Given the description of an element on the screen output the (x, y) to click on. 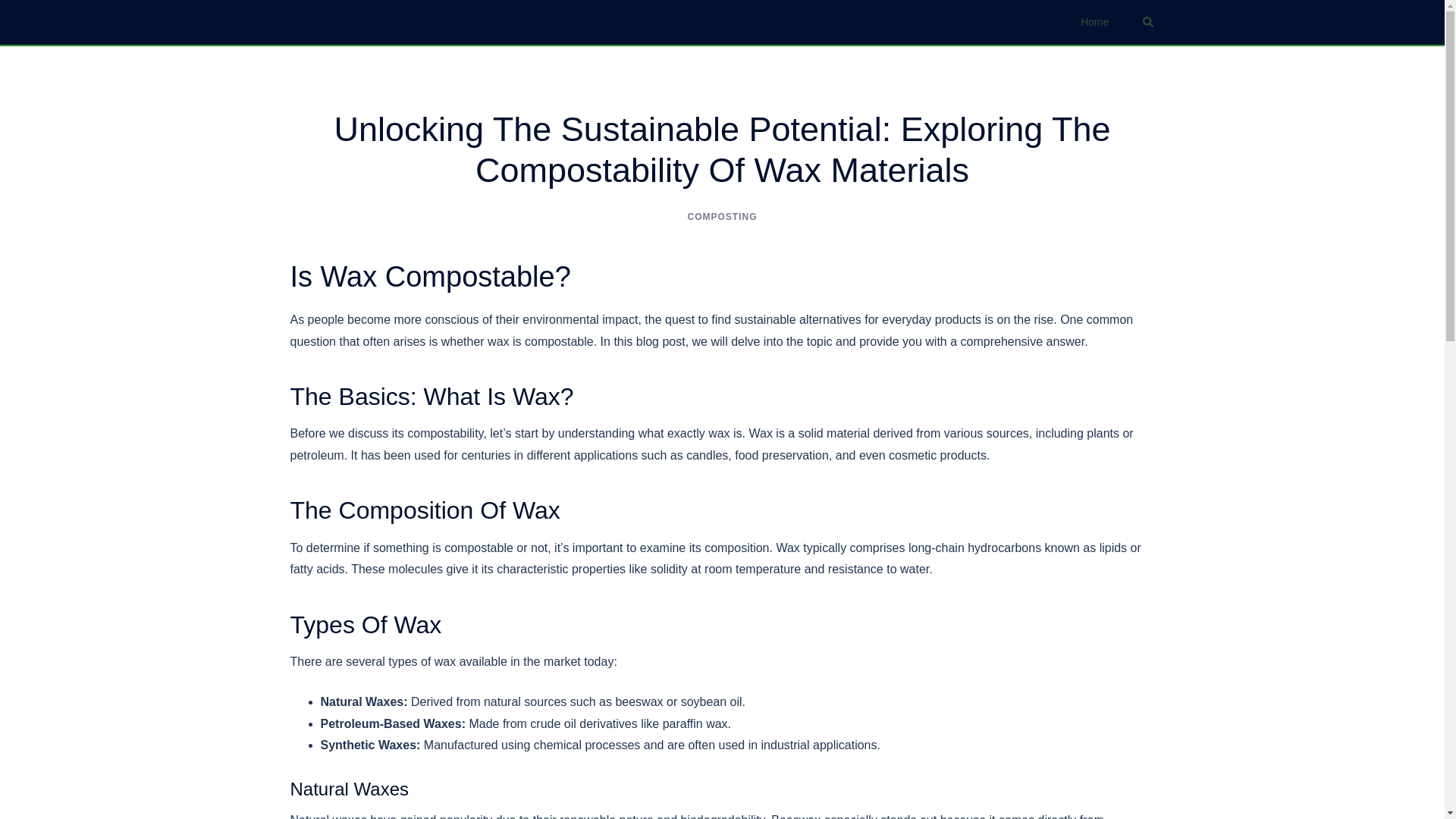
COMPOSTING (722, 216)
Earth Wild Gardens (348, 21)
Search (1147, 21)
Home (1094, 22)
